Given the description of an element on the screen output the (x, y) to click on. 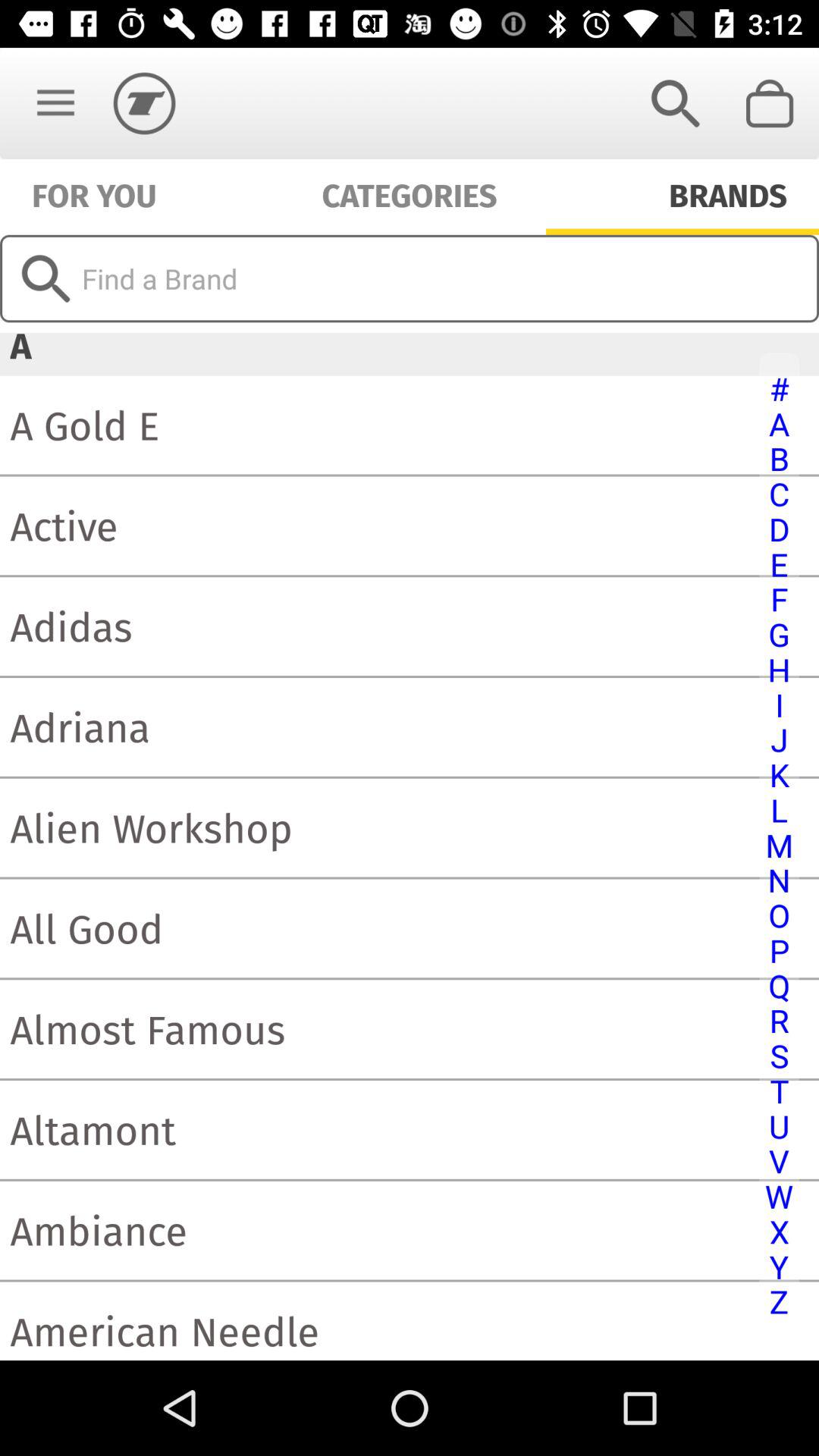
open icon above the a item (409, 278)
